Given the description of an element on the screen output the (x, y) to click on. 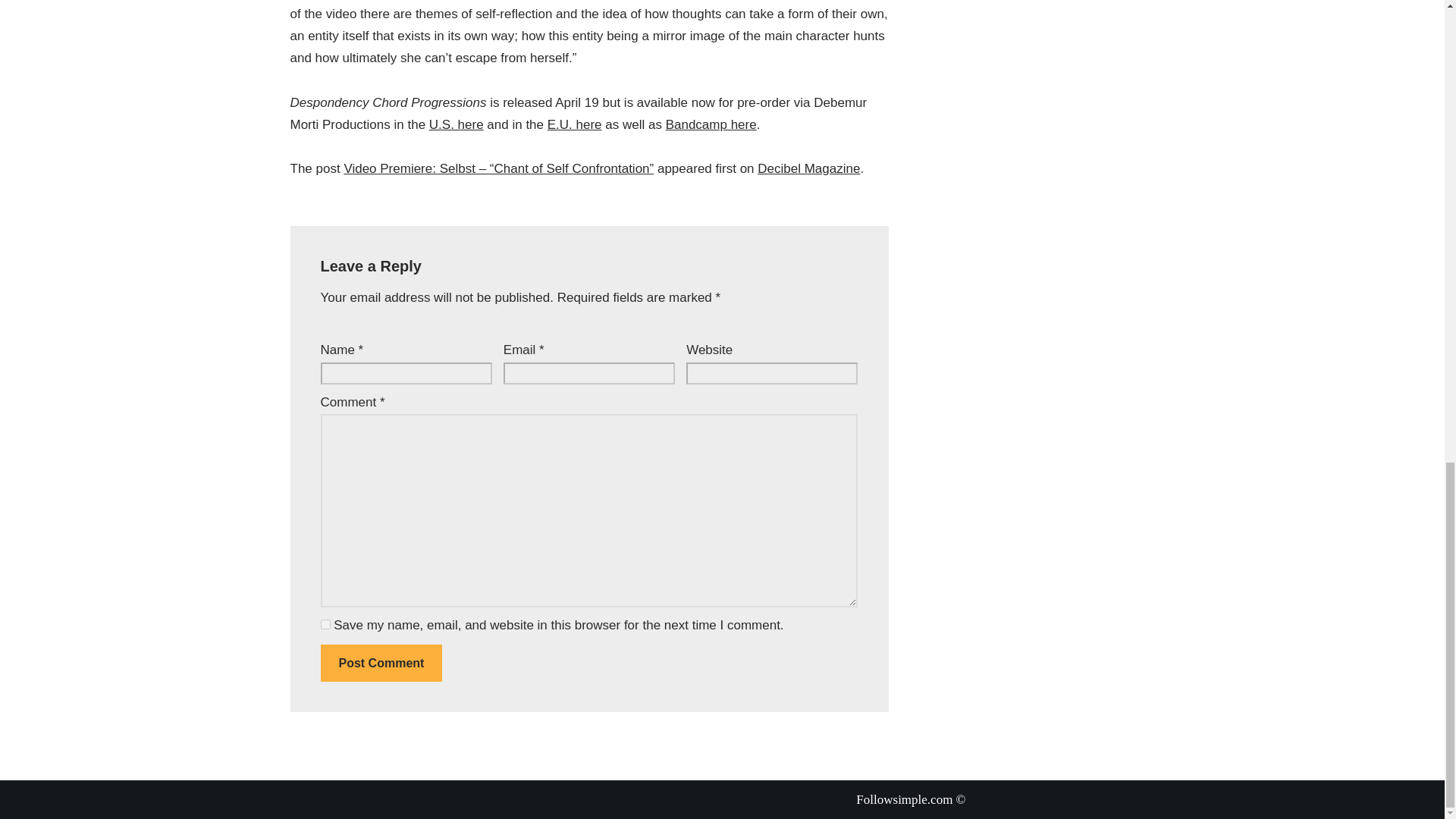
Post Comment (381, 663)
Decibel Magazine (808, 168)
Post Comment (381, 663)
Bandcamp here (711, 124)
E.U. here (574, 124)
yes (325, 624)
U.S. here (456, 124)
